Given the description of an element on the screen output the (x, y) to click on. 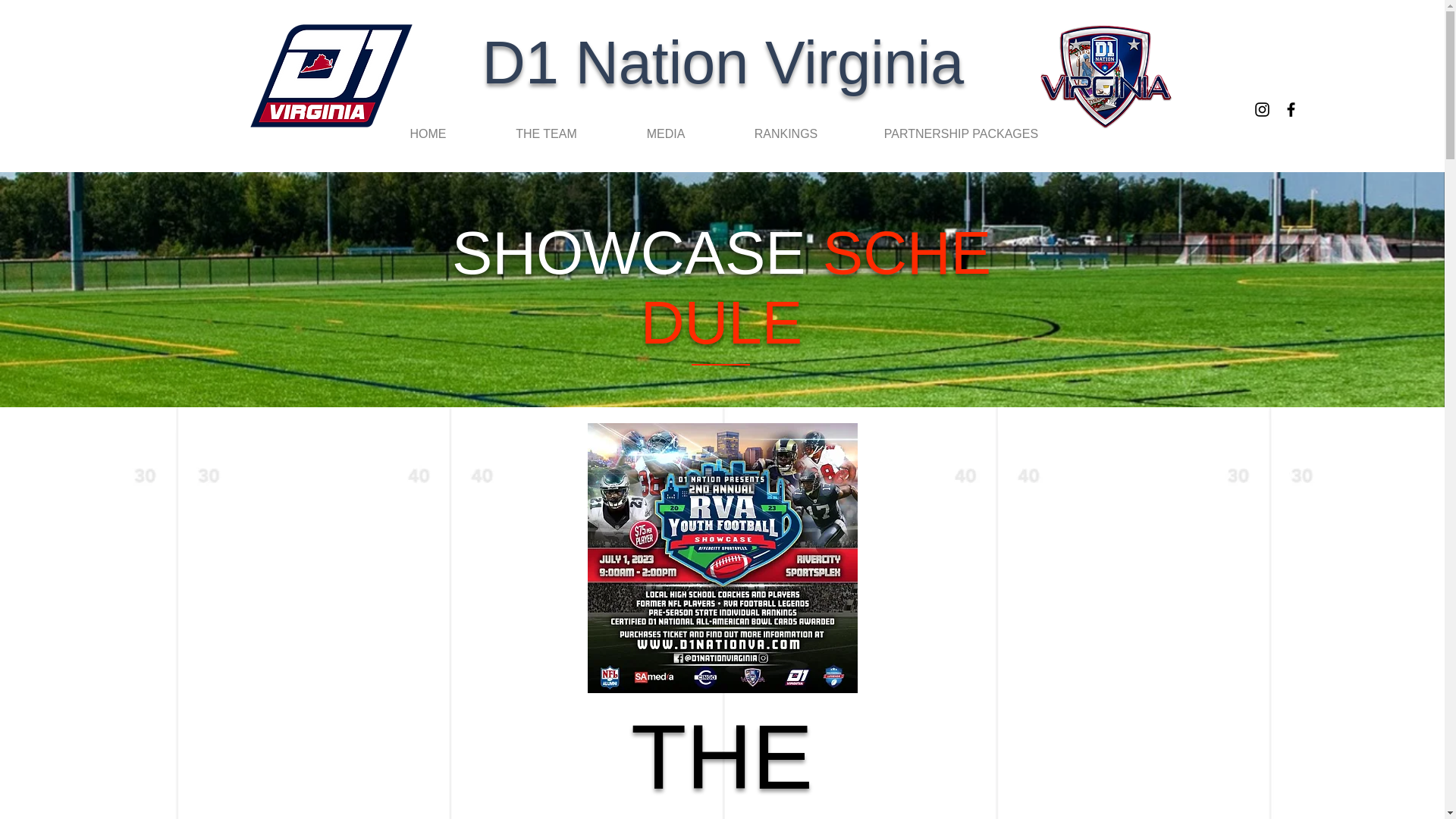
RANKINGS (785, 133)
THE TEAM (545, 133)
HOME (427, 133)
PARTNERSHIP PACKAGES (960, 133)
MEDIA (665, 133)
